Given the description of an element on the screen output the (x, y) to click on. 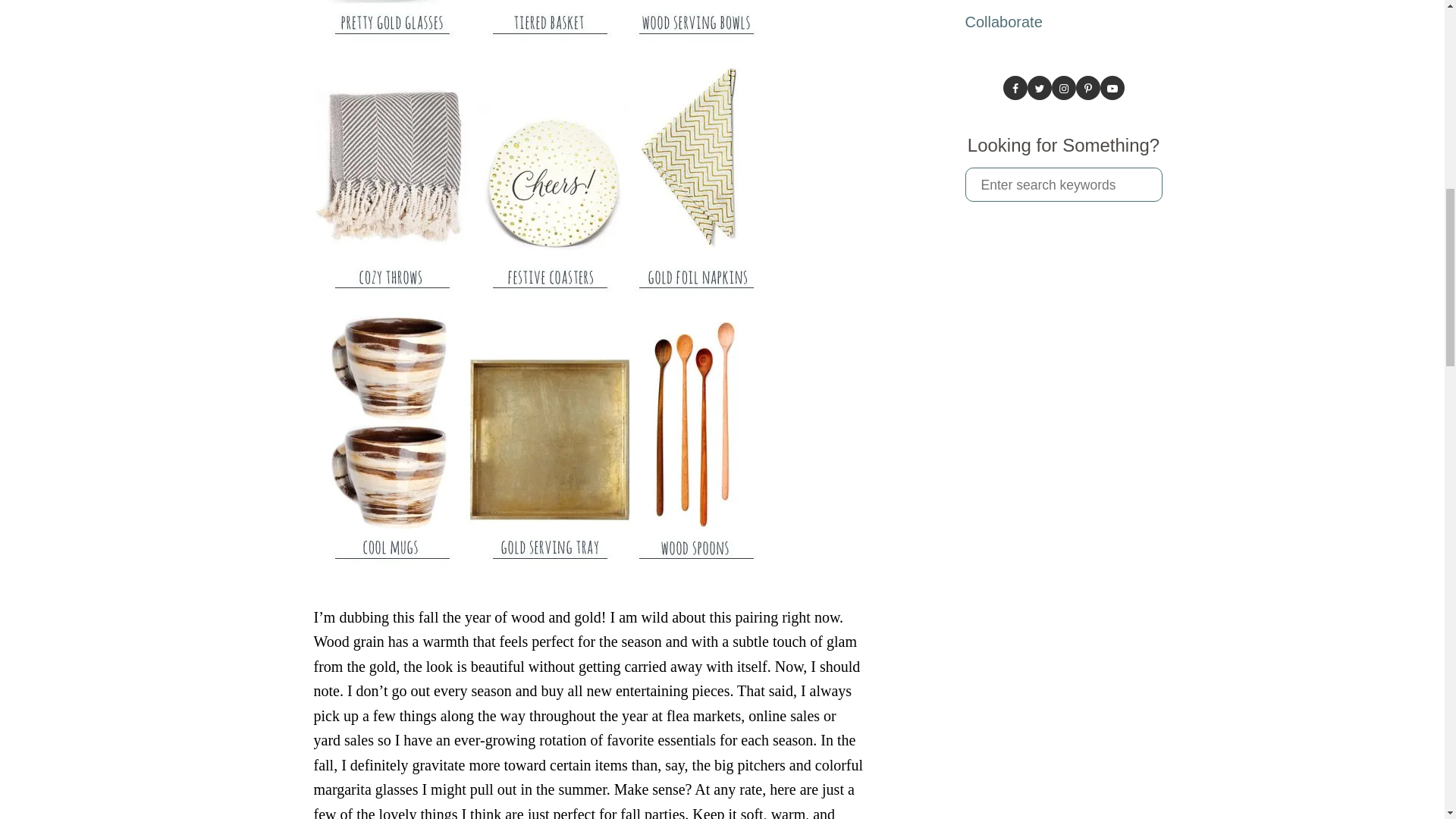
Follow on YouTube (1111, 87)
Follow on Instagram (1063, 87)
Follow on Pinterest (1087, 87)
Search for: (1062, 184)
Follow on Facebook (1014, 87)
Follow on Twitter (1038, 87)
